Given the description of an element on the screen output the (x, y) to click on. 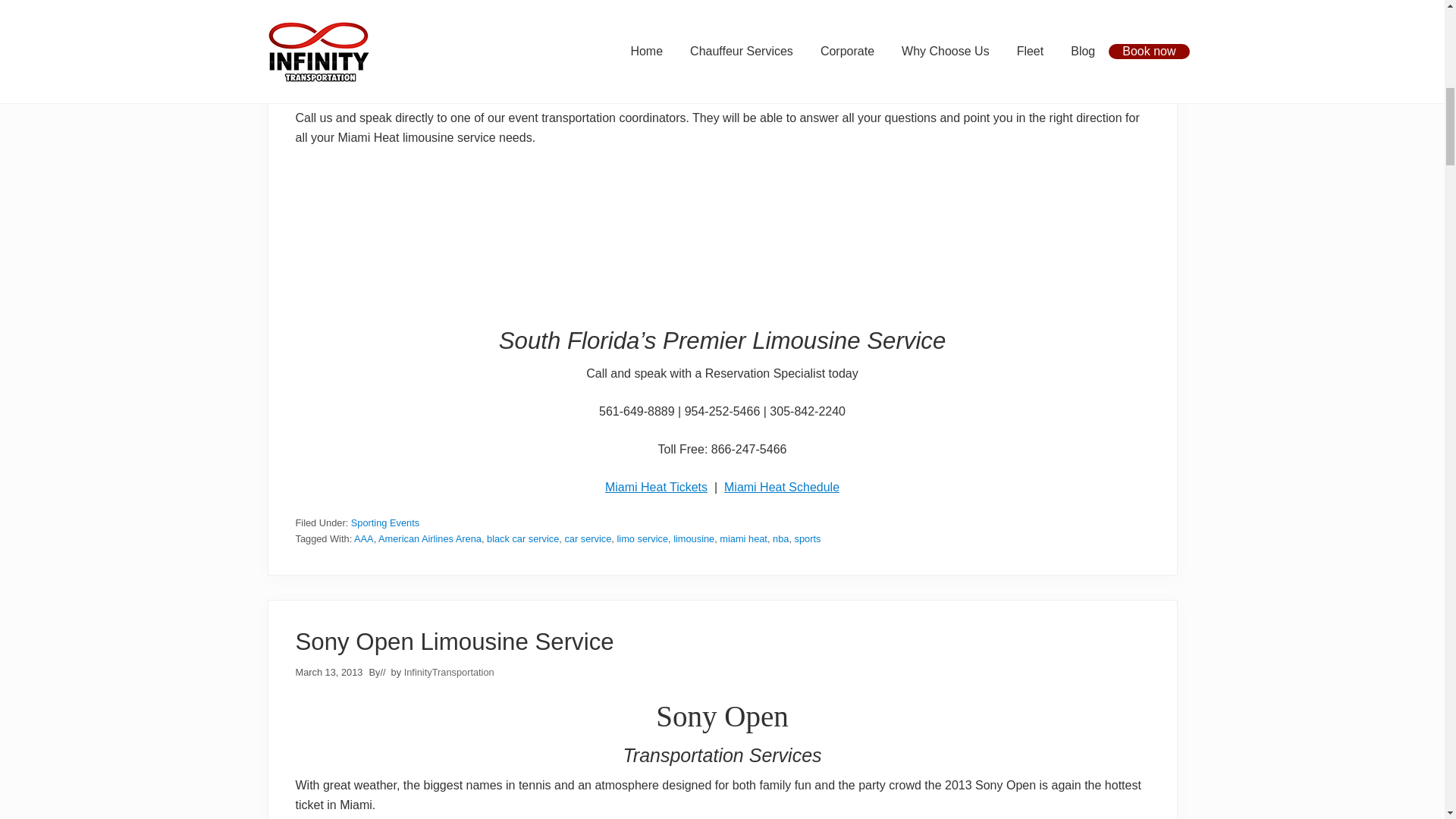
Infinity Transportation Home (721, 297)
Miami Heat Schedule (781, 486)
Miami Heat Tickets (656, 486)
